Given the description of an element on the screen output the (x, y) to click on. 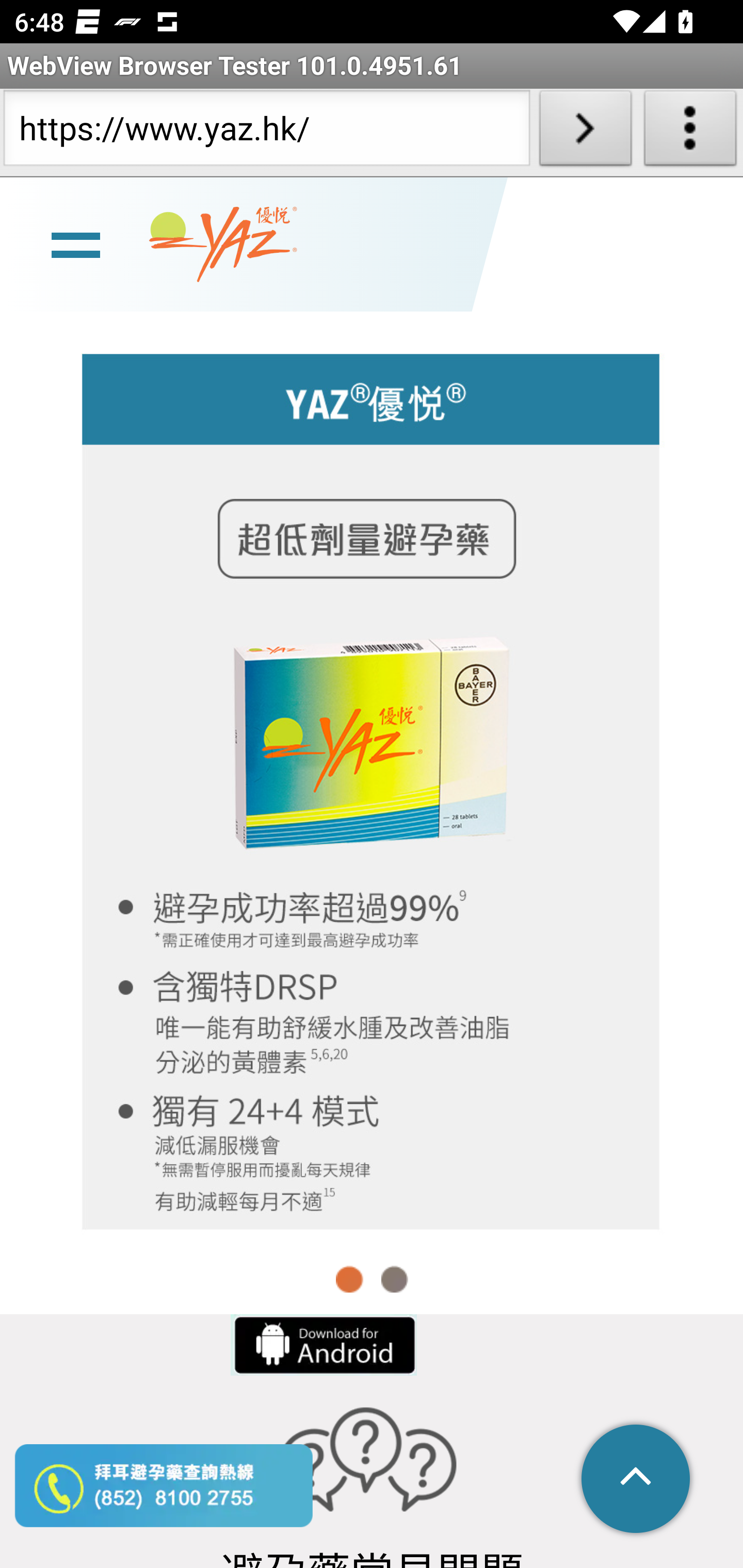
https://www.yaz.hk/ (266, 132)
Load URL (585, 132)
About WebView (690, 132)
www.yaz (222, 244)
line Toggle burger menu (75, 245)
slide 1 (371, 790)
1 of 2 (349, 1280)
2 of 2 (393, 1280)
details?id=com.bayer.ph (322, 1345)
 (636, 1480)
